Given the description of an element on the screen output the (x, y) to click on. 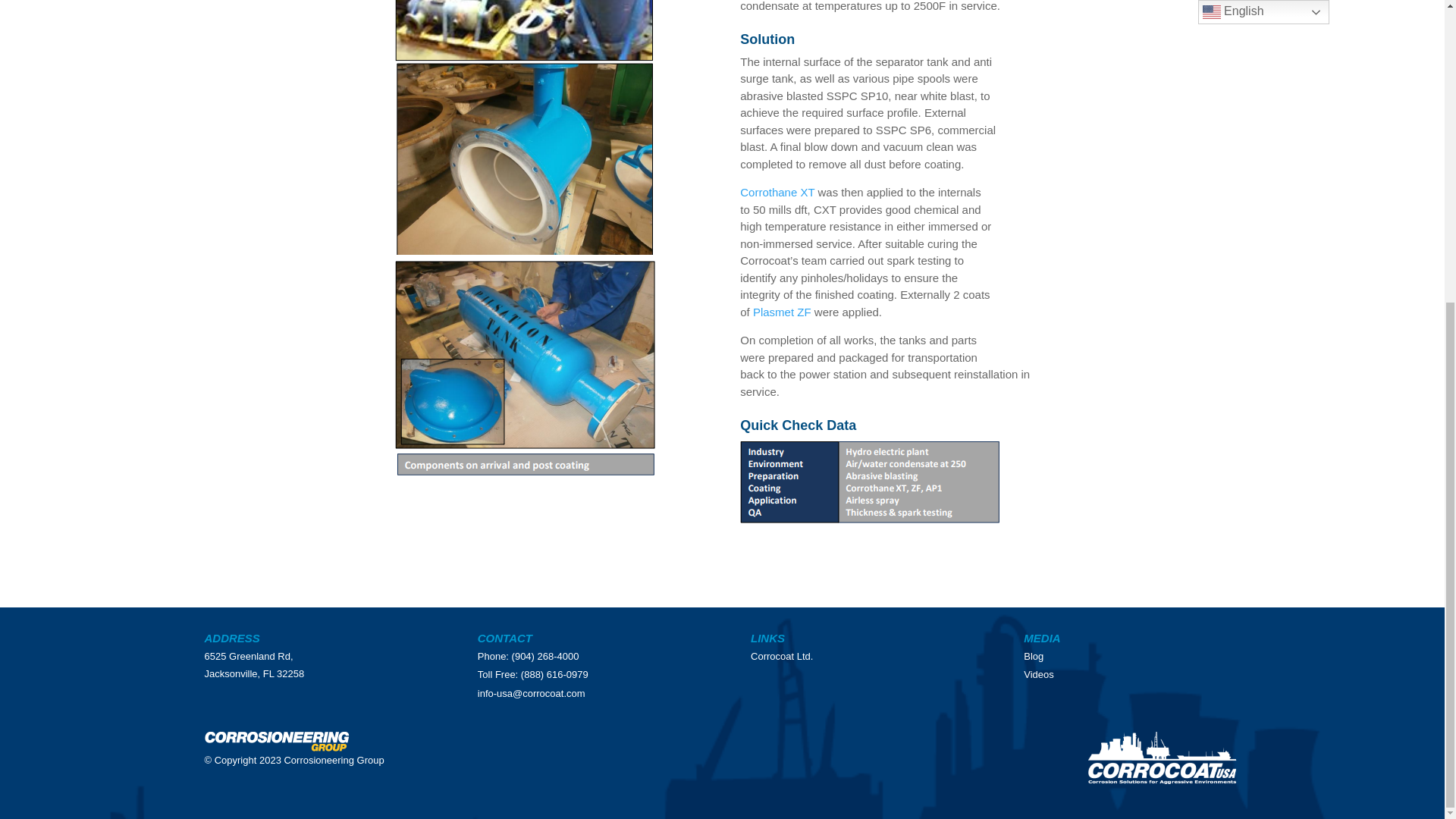
Corrothane XT (776, 192)
Plasmet ZF (781, 311)
